Given the description of an element on the screen output the (x, y) to click on. 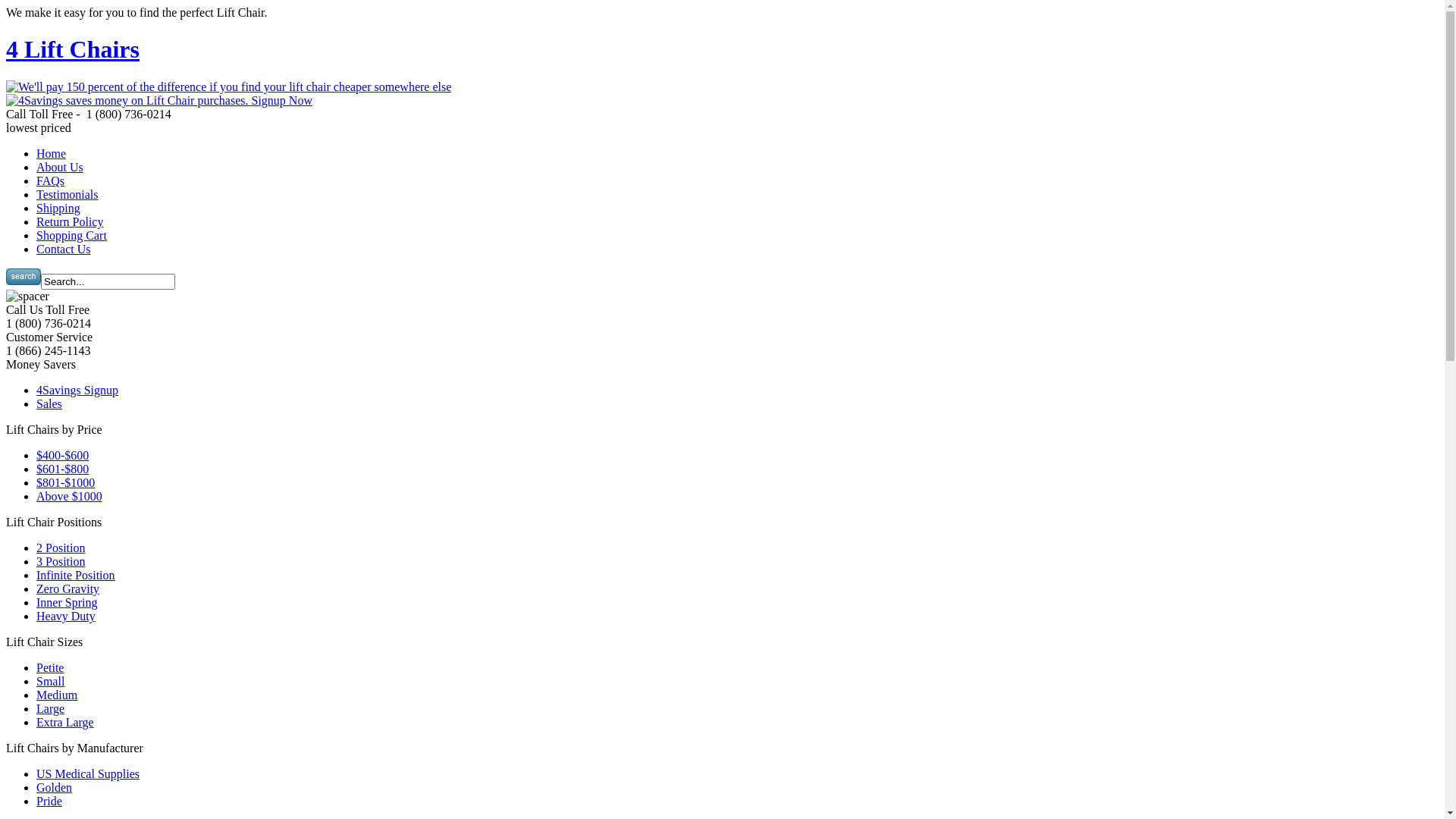
Medium Element type: text (56, 694)
$400-$600 Element type: text (62, 454)
Sales Element type: text (49, 403)
4Savings Signup Element type: text (77, 389)
Infinite Position Element type: text (75, 574)
2 Position Element type: text (60, 547)
Heavy Duty Element type: text (65, 615)
Inner Spring Element type: text (66, 602)
Return Policy Element type: text (69, 221)
US Medical Supplies Element type: text (87, 773)
FAQs Element type: text (50, 180)
Pride Element type: text (49, 800)
Shopping Cart Element type: text (71, 235)
$801-$1000 Element type: text (65, 482)
3 Position Element type: text (60, 561)
Home Element type: text (50, 153)
$601-$800 Element type: text (62, 468)
Shipping Element type: text (58, 207)
Zero Gravity Element type: text (67, 588)
Small Element type: text (50, 680)
Petite Element type: text (49, 667)
4 Lift Chairs Element type: text (72, 48)
Golden Element type: text (54, 787)
Large Element type: text (50, 708)
Contact Us Element type: text (63, 248)
Testimonials Element type: text (67, 194)
Above $1000 Element type: text (69, 495)
About Us Element type: text (59, 166)
Extra Large Element type: text (65, 721)
